Given the description of an element on the screen output the (x, y) to click on. 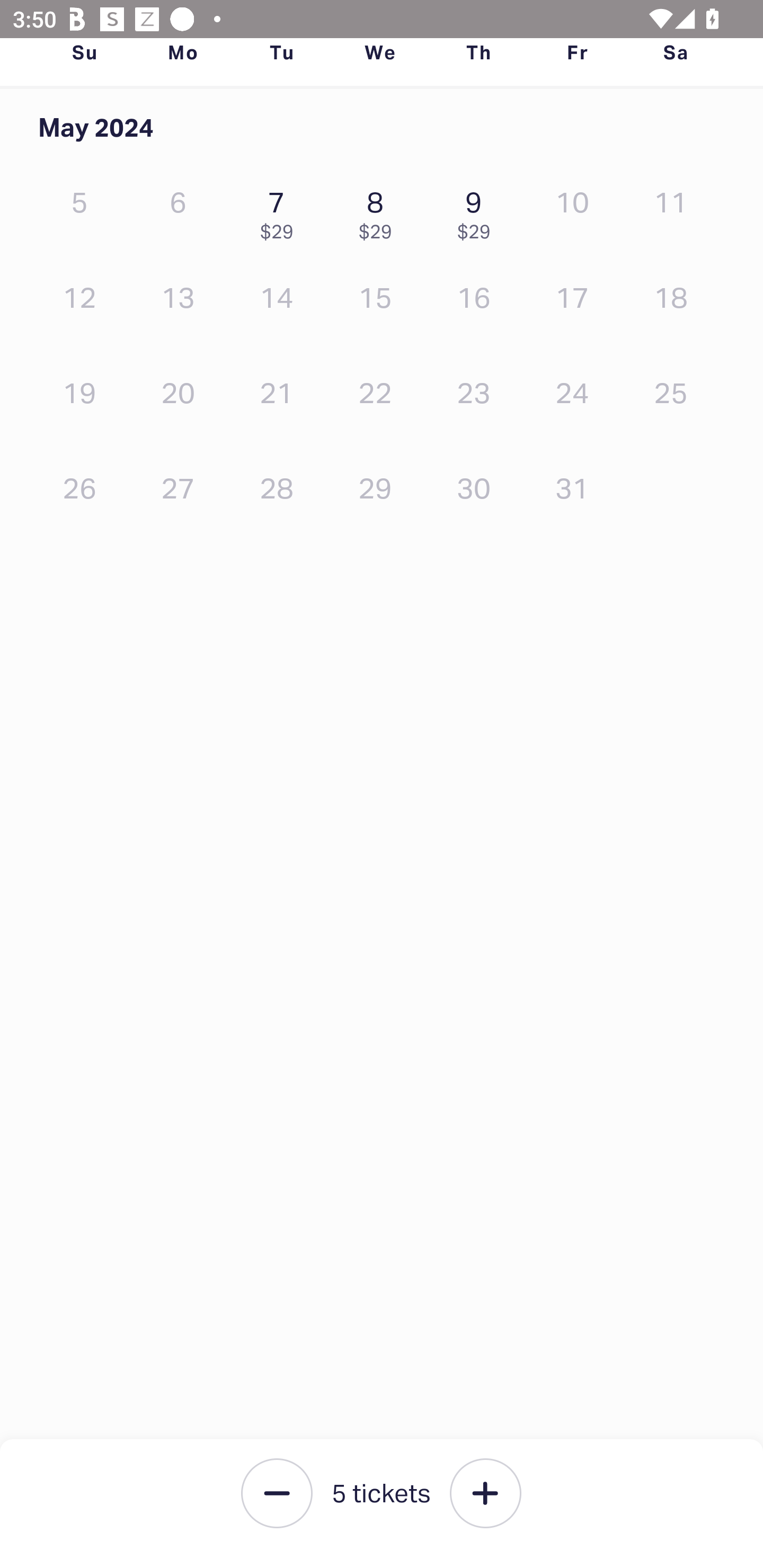
7 $29 (281, 210)
8 $29 (379, 210)
9 $29 (478, 210)
